Given the description of an element on the screen output the (x, y) to click on. 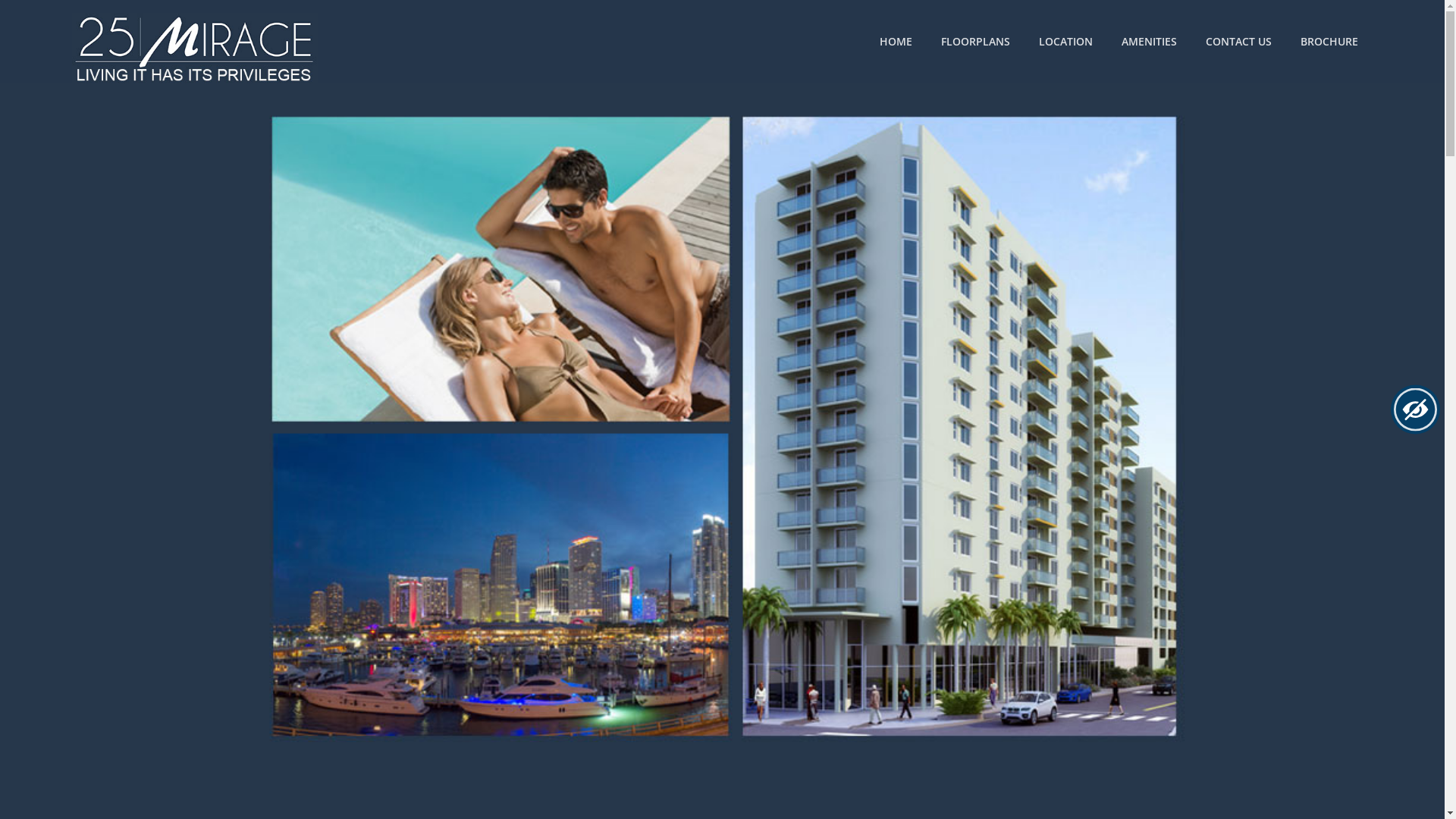
LOCATION Element type: text (1065, 41)
AMENITIES Element type: text (1149, 41)
HOME Element type: text (895, 41)
BROCHURE Element type: text (1329, 41)
FLOORPLANS Element type: text (975, 41)
CONTACT US Element type: text (1238, 41)
